Given the description of an element on the screen output the (x, y) to click on. 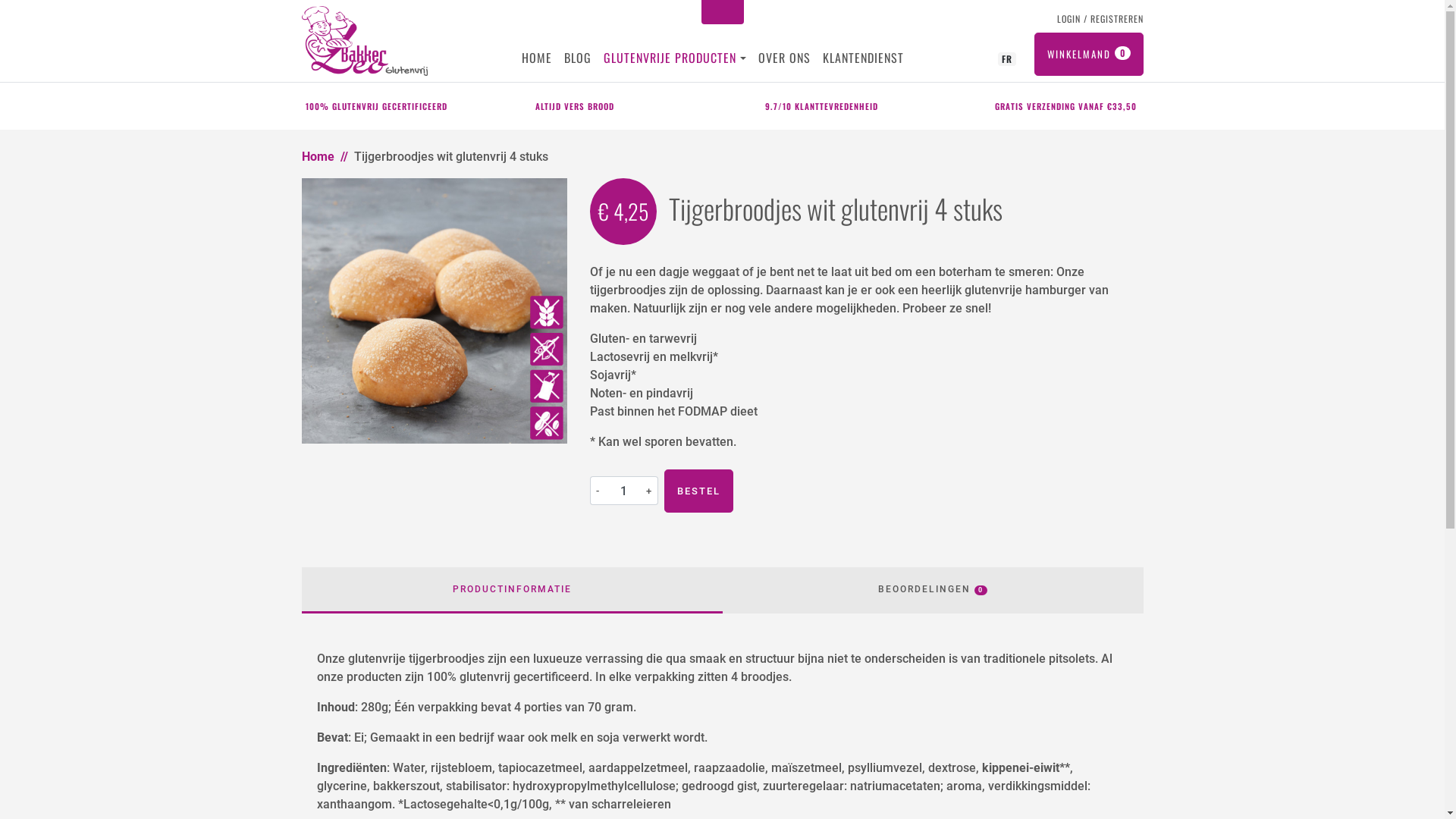
GLUTENVRIJE PRODUCTEN Element type: text (671, 57)
KLANTENDIENST Element type: text (863, 57)
BLOG Element type: text (577, 57)
OVER ONS Element type: text (784, 57)
LOGIN / REGISTREREN Element type: text (1097, 18)
- Element type: text (597, 490)
BESTEL Element type: text (698, 490)
+ Element type: text (649, 490)
Home Element type: text (317, 156)
WINKELMAND 0 Element type: text (1088, 53)
FR Element type: text (1006, 57)
PRODUCTINFORMATIE Element type: text (511, 590)
BEOORDELINGEN 0 Element type: text (931, 590)
HOME Element type: text (536, 57)
